Given the description of an element on the screen output the (x, y) to click on. 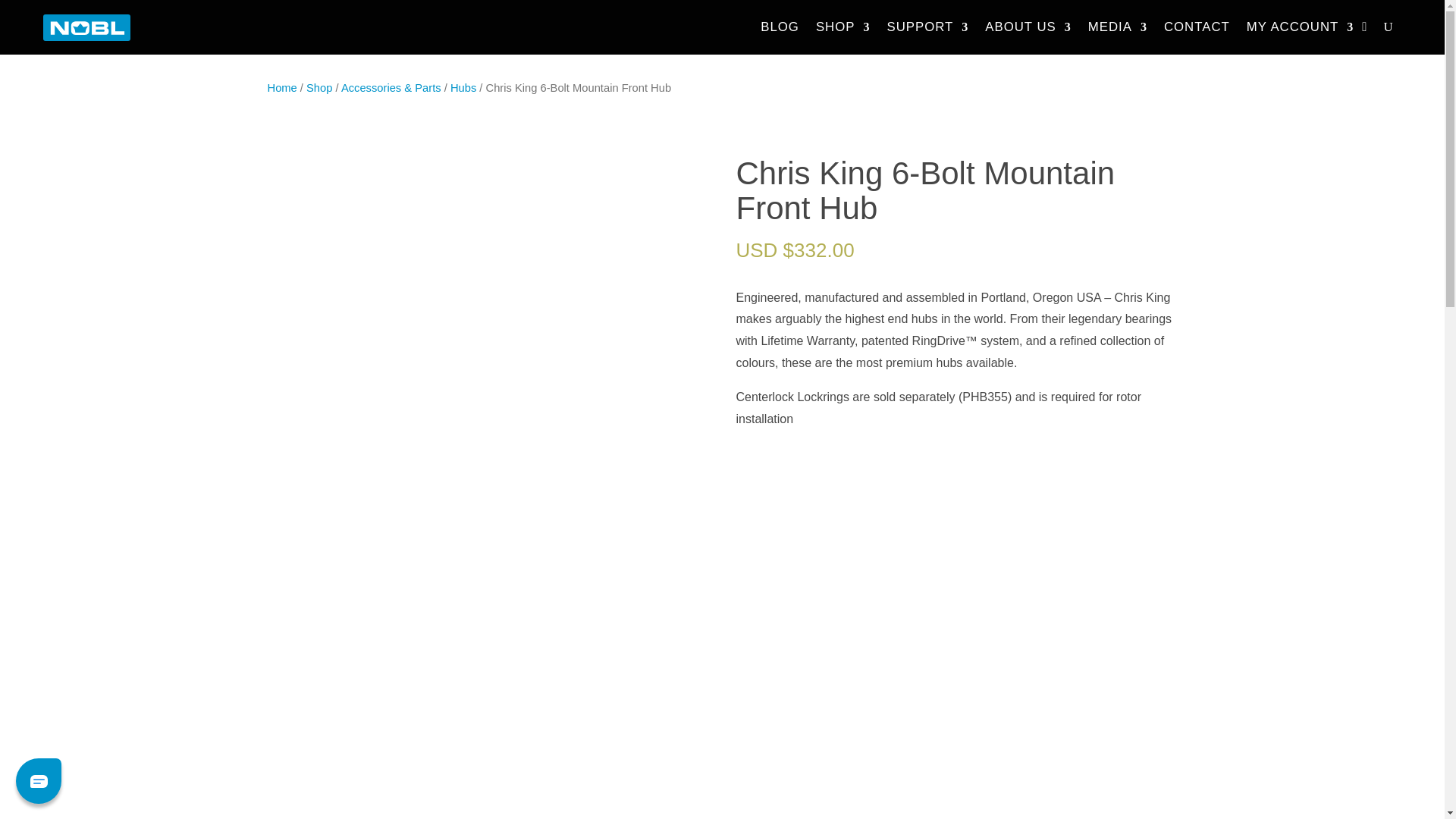
SUPPORT (927, 28)
SHOP (842, 28)
